Given the description of an element on the screen output the (x, y) to click on. 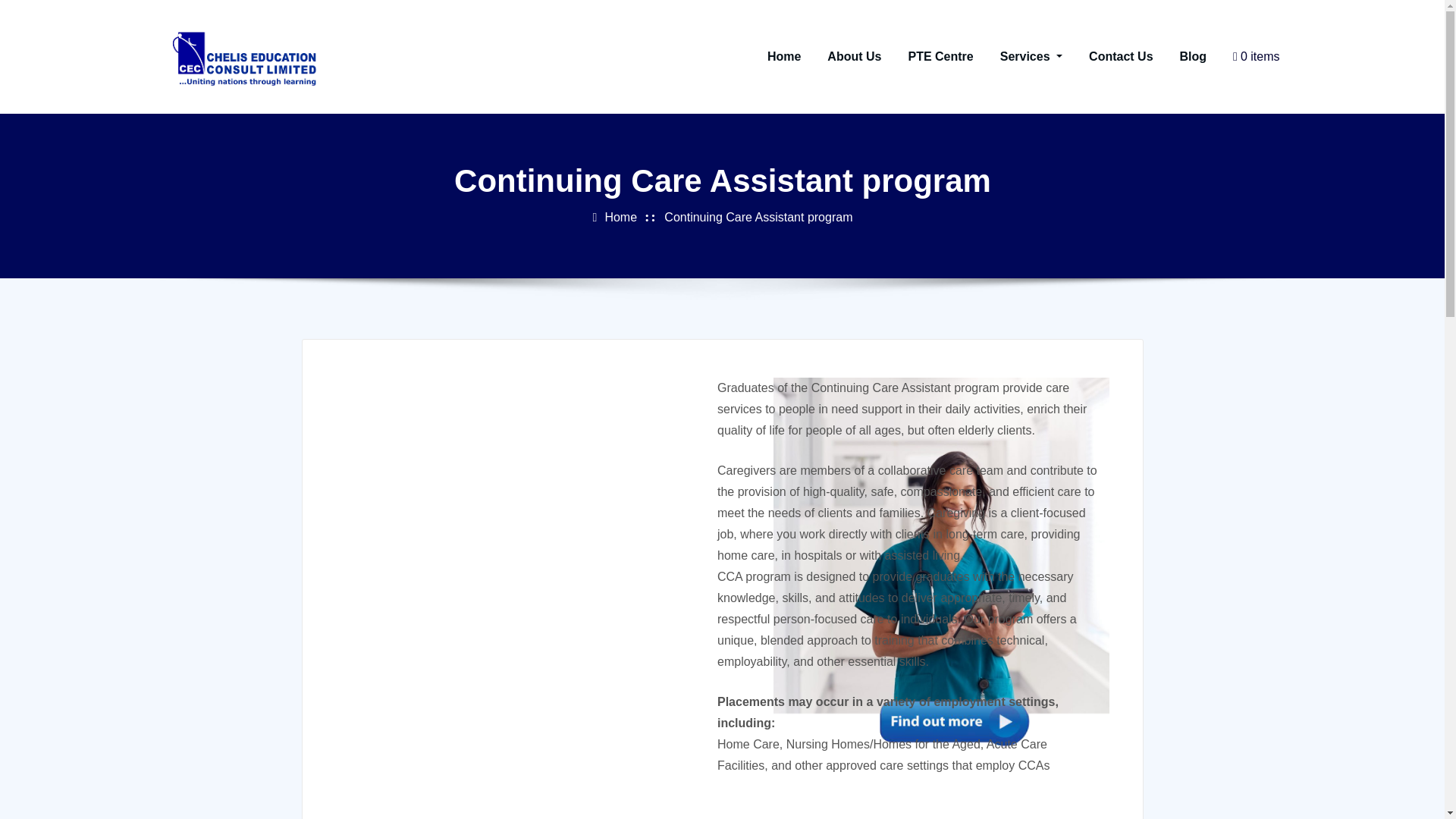
Services (1025, 56)
Continuing Care Assistant program (751, 256)
Home (777, 56)
0 items (1250, 56)
Contact Us (1115, 56)
PTE Centre (935, 56)
Home (614, 262)
Blog (1187, 56)
About Us (849, 56)
